Given the description of an element on the screen output the (x, y) to click on. 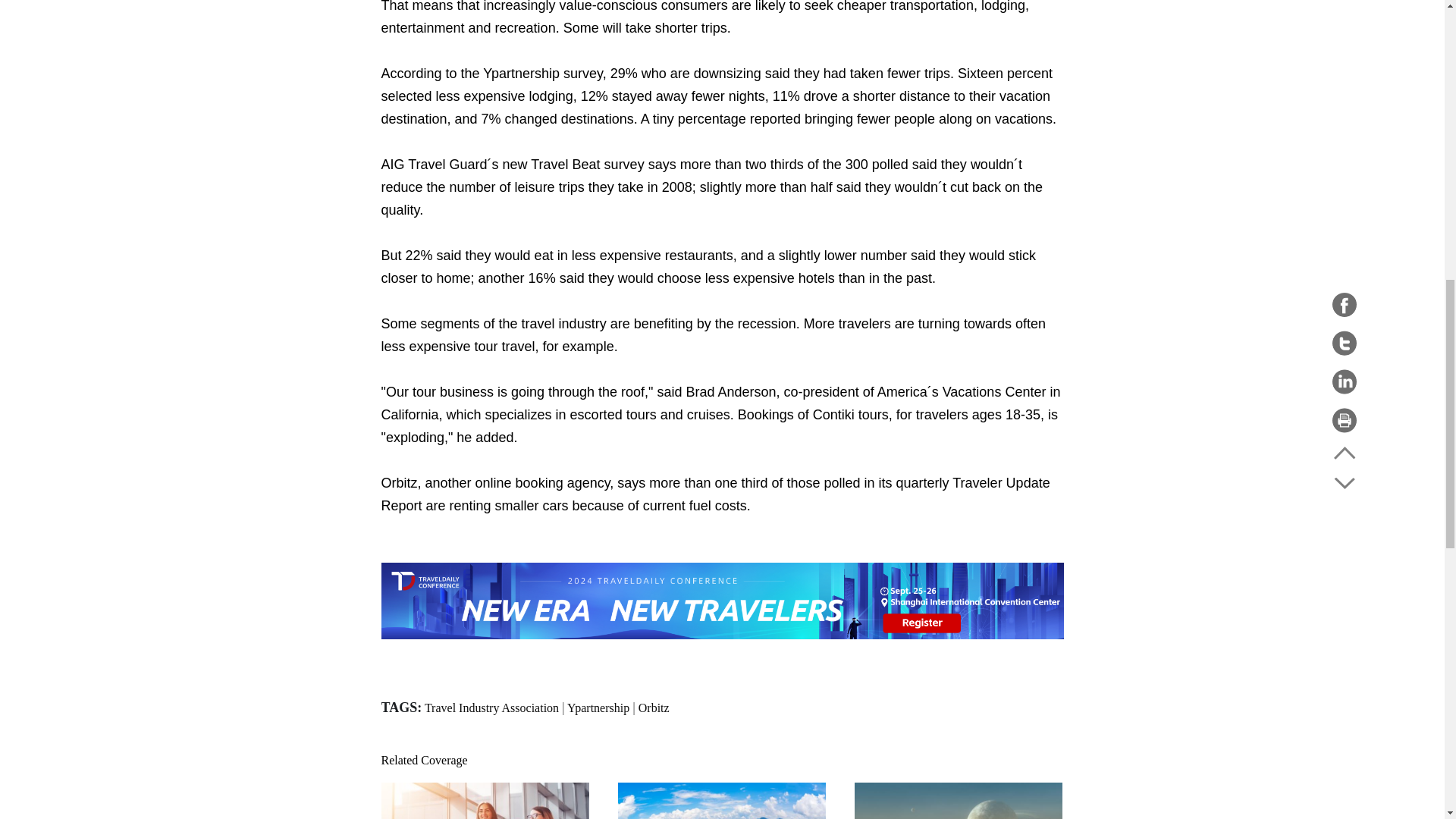
Travel Industry Association (492, 707)
Ypartnership (597, 707)
Orbitz (654, 707)
